Given the description of an element on the screen output the (x, y) to click on. 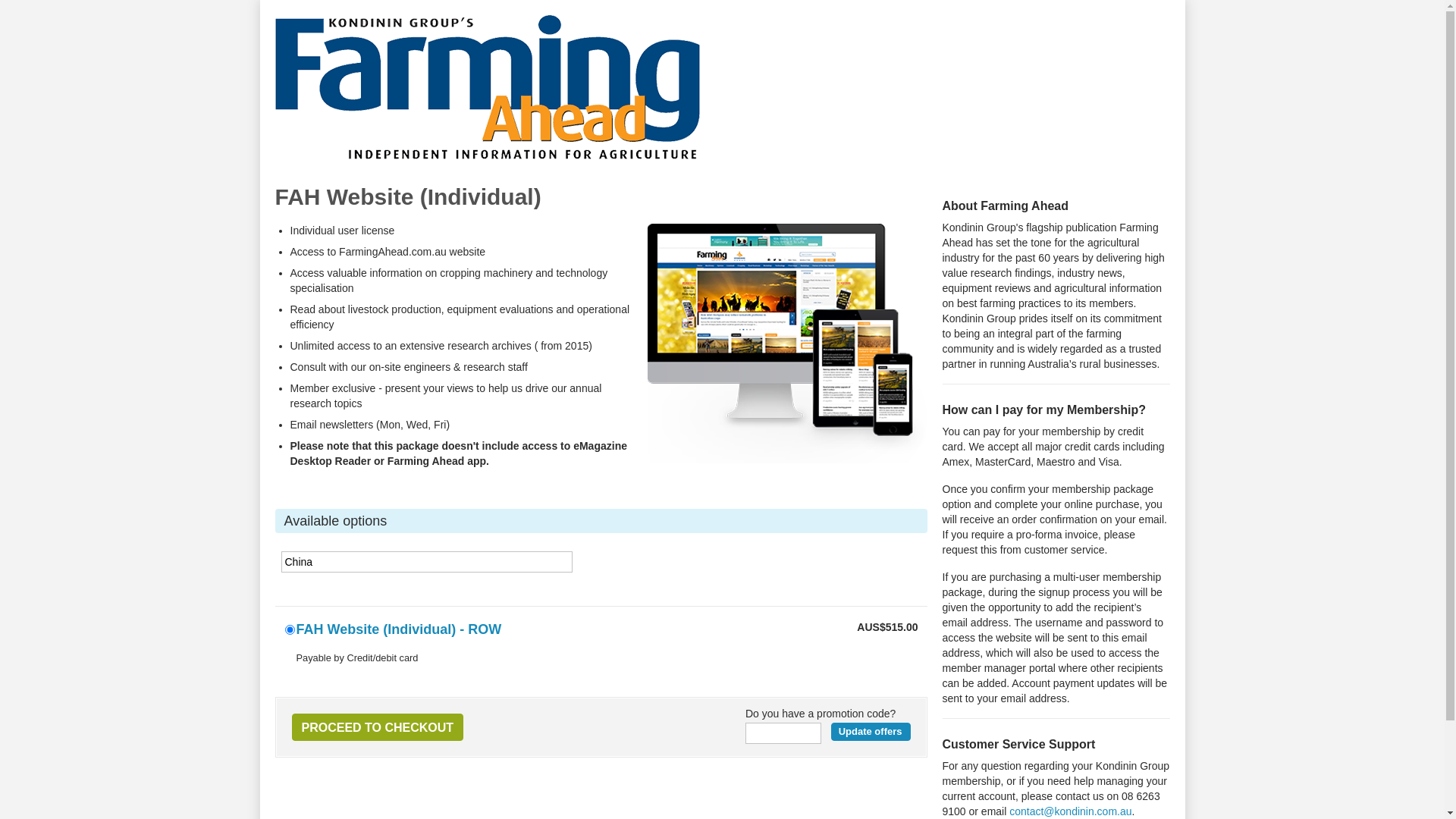
PROCEED TO CHECKOUT Element type: text (377, 726)
Farming Ahead Element type: hover (486, 156)
Update offers Element type: text (870, 731)
contact@kondinin.com.au Element type: text (1070, 811)
